Given the description of an element on the screen output the (x, y) to click on. 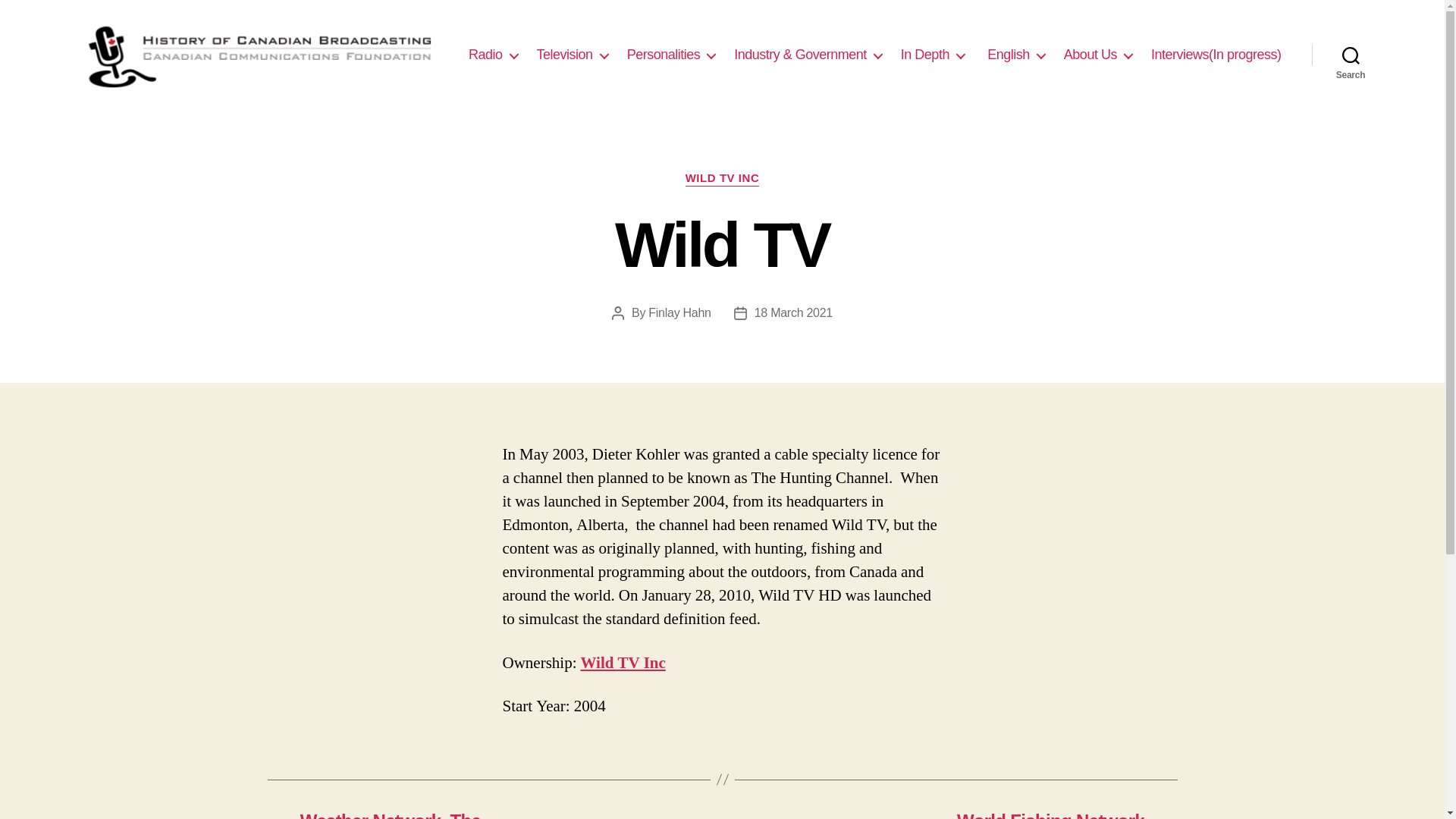
In Depth (932, 54)
Radio (493, 54)
English (1014, 54)
Personalities (671, 54)
About Us (1098, 54)
Search (1350, 55)
Television (572, 54)
